Given the description of an element on the screen output the (x, y) to click on. 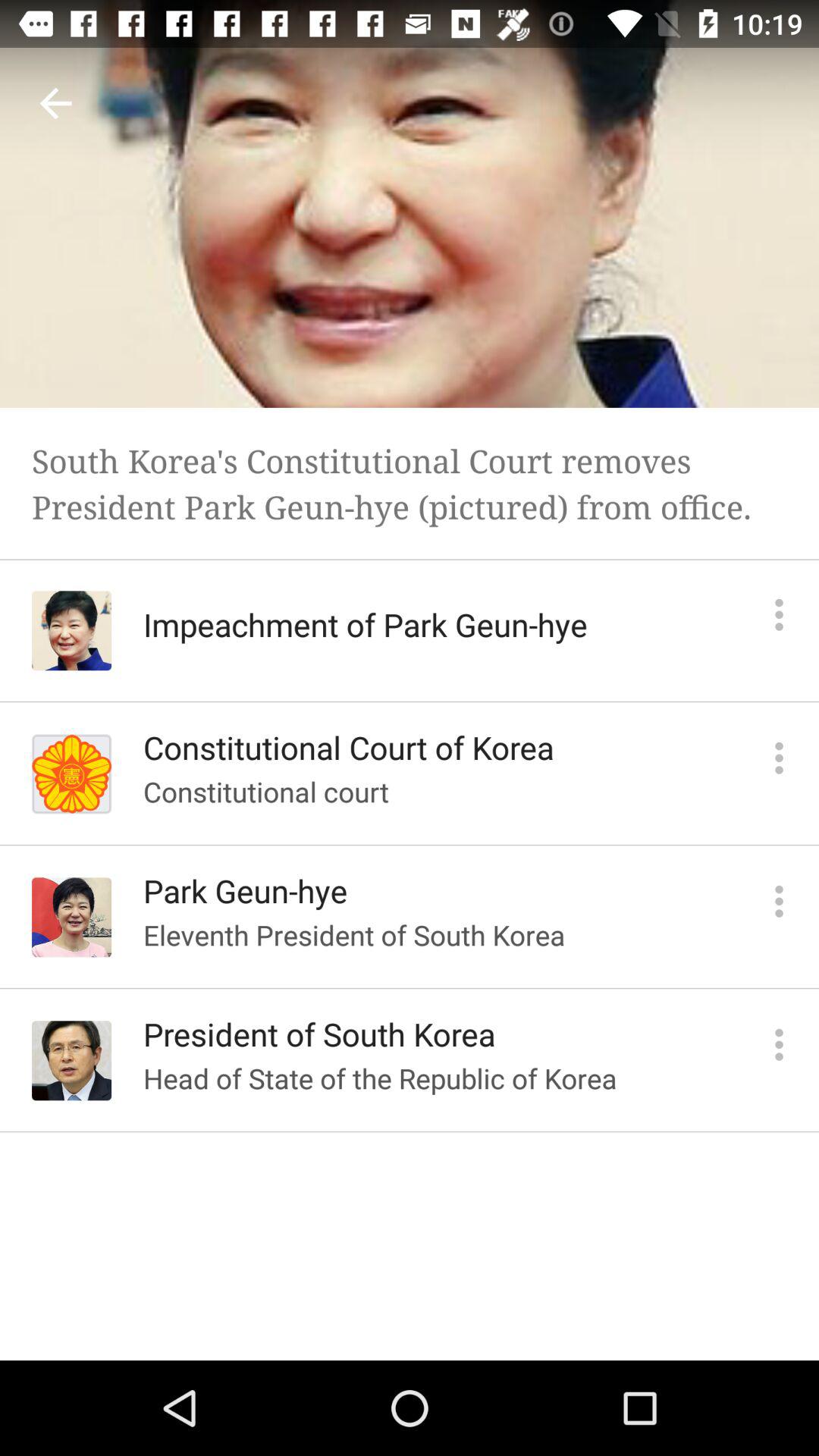
see more options (779, 901)
